Given the description of an element on the screen output the (x, y) to click on. 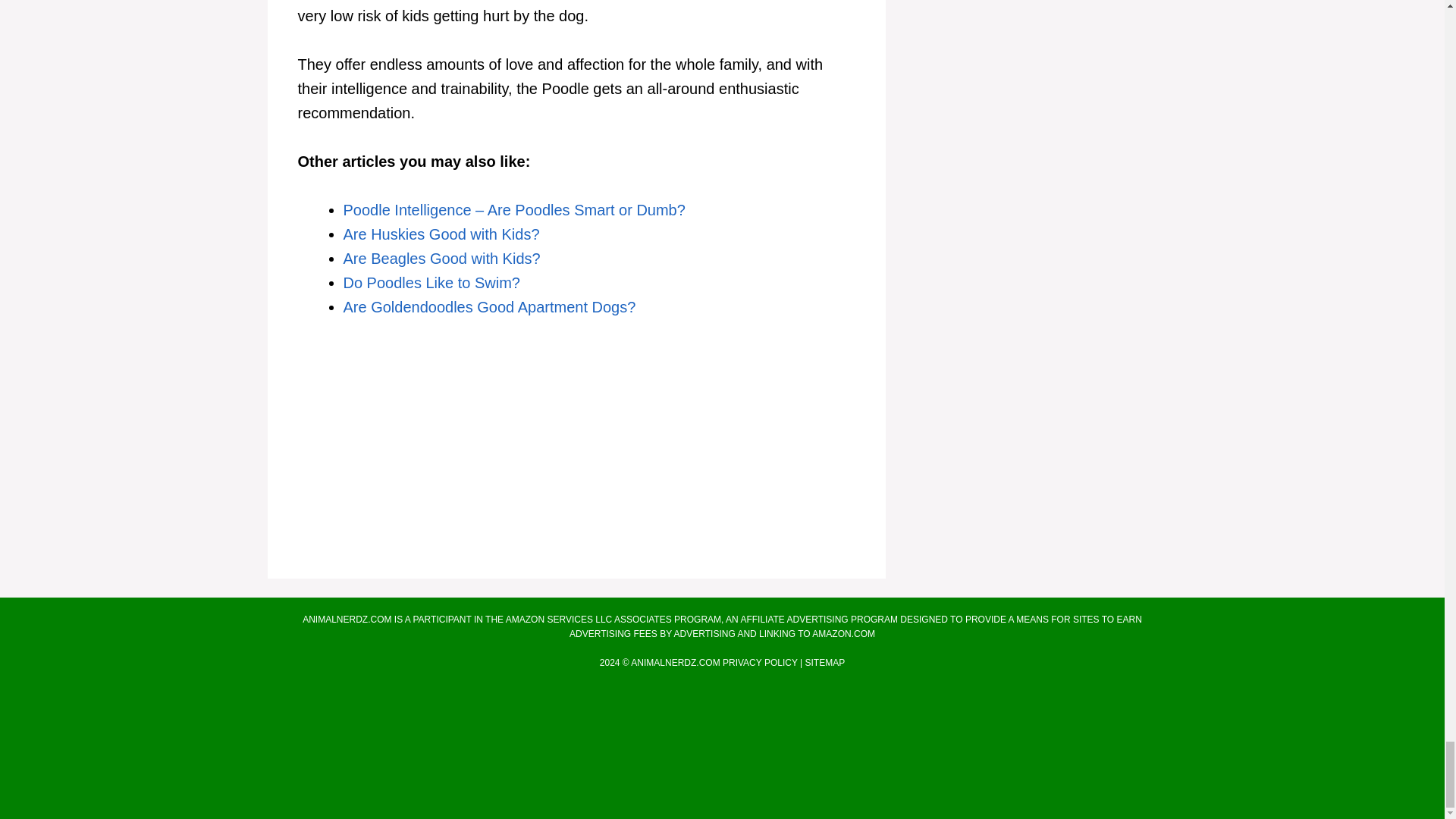
Are Goldendoodles Good Apartment Dogs? (488, 306)
Are Beagles Good with Kids? (441, 258)
Do Poodles Like to Swim? (430, 282)
Are Huskies Good with Kids? (440, 234)
